Given the description of an element on the screen output the (x, y) to click on. 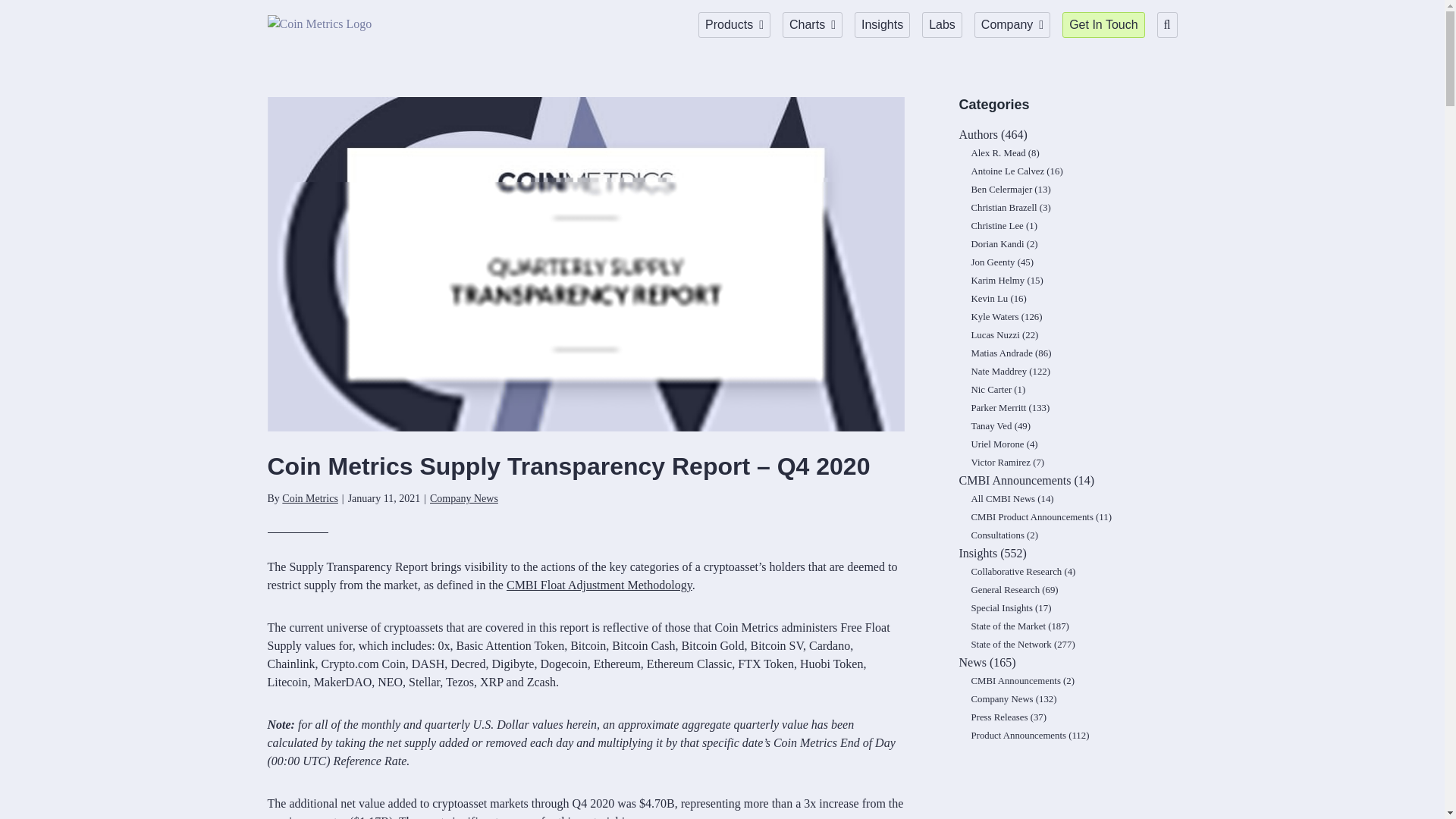
Posts by Coin Metrics (309, 498)
Products (734, 24)
Insights (882, 24)
Get In Touch (1103, 24)
Company (1011, 24)
Charts (813, 24)
Labs (941, 24)
